Given the description of an element on the screen output the (x, y) to click on. 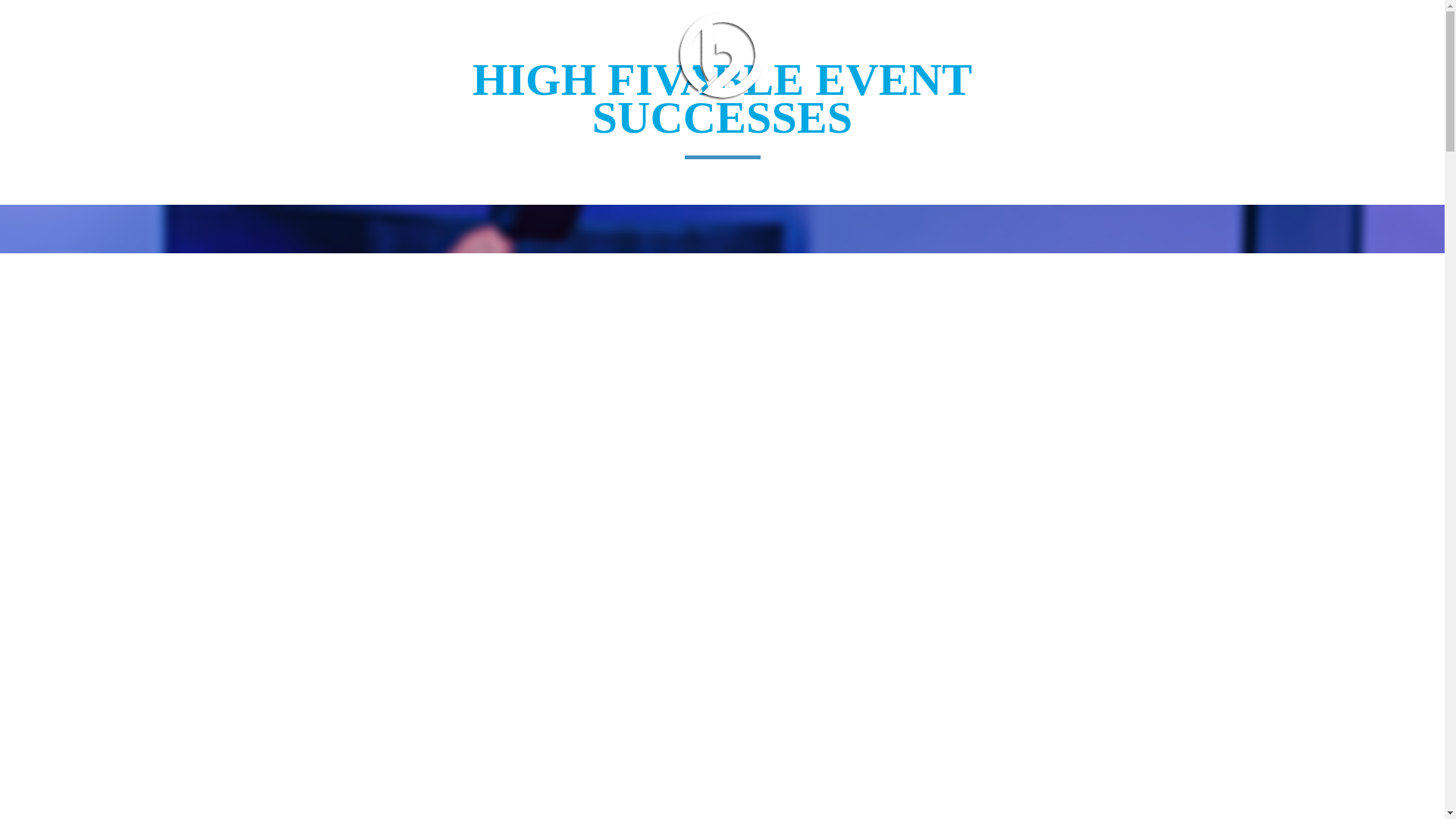
BLOG (1093, 55)
MEDIA PRODUCTION (862, 55)
EVENT PRODUCTION (584, 55)
CONTACT (1163, 55)
PORTFOLIO (465, 55)
ABOUT (386, 55)
HOME (323, 55)
VIRTUAL EVENTS (1000, 55)
